Given the description of an element on the screen output the (x, y) to click on. 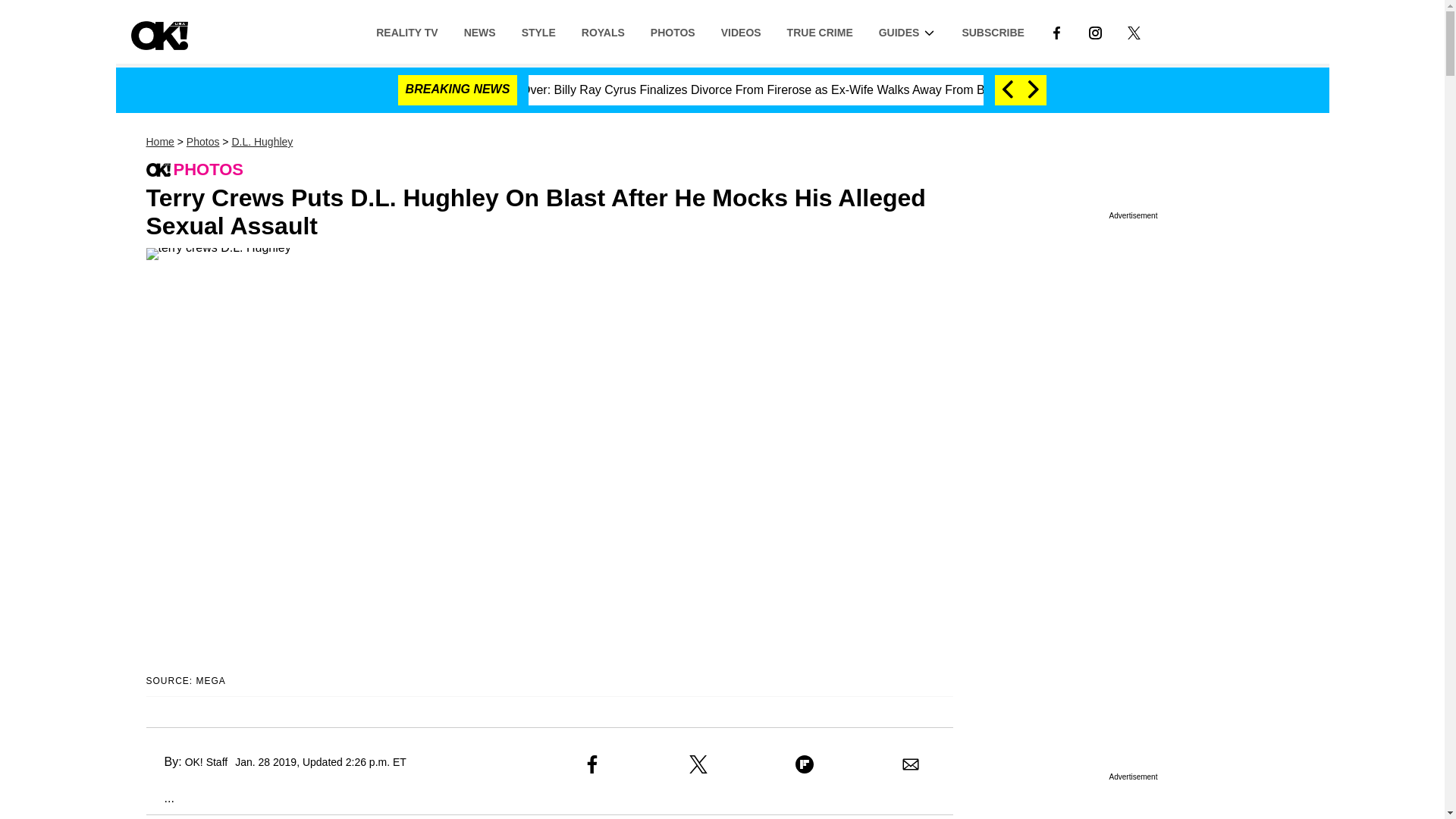
Share to Email (909, 764)
Link to Instagram (1095, 31)
TRUE CRIME (820, 31)
... (159, 797)
Photos (202, 141)
Link to Facebook (1055, 31)
LINK TO INSTAGRAM (1095, 31)
ROYALS (603, 31)
SUBSCRIBE (992, 31)
LINK TO X (1134, 31)
LINK TO FACEBOOK (1055, 32)
Share to Facebook (590, 764)
LINK TO X (1133, 32)
STYLE (538, 31)
